Given the description of an element on the screen output the (x, y) to click on. 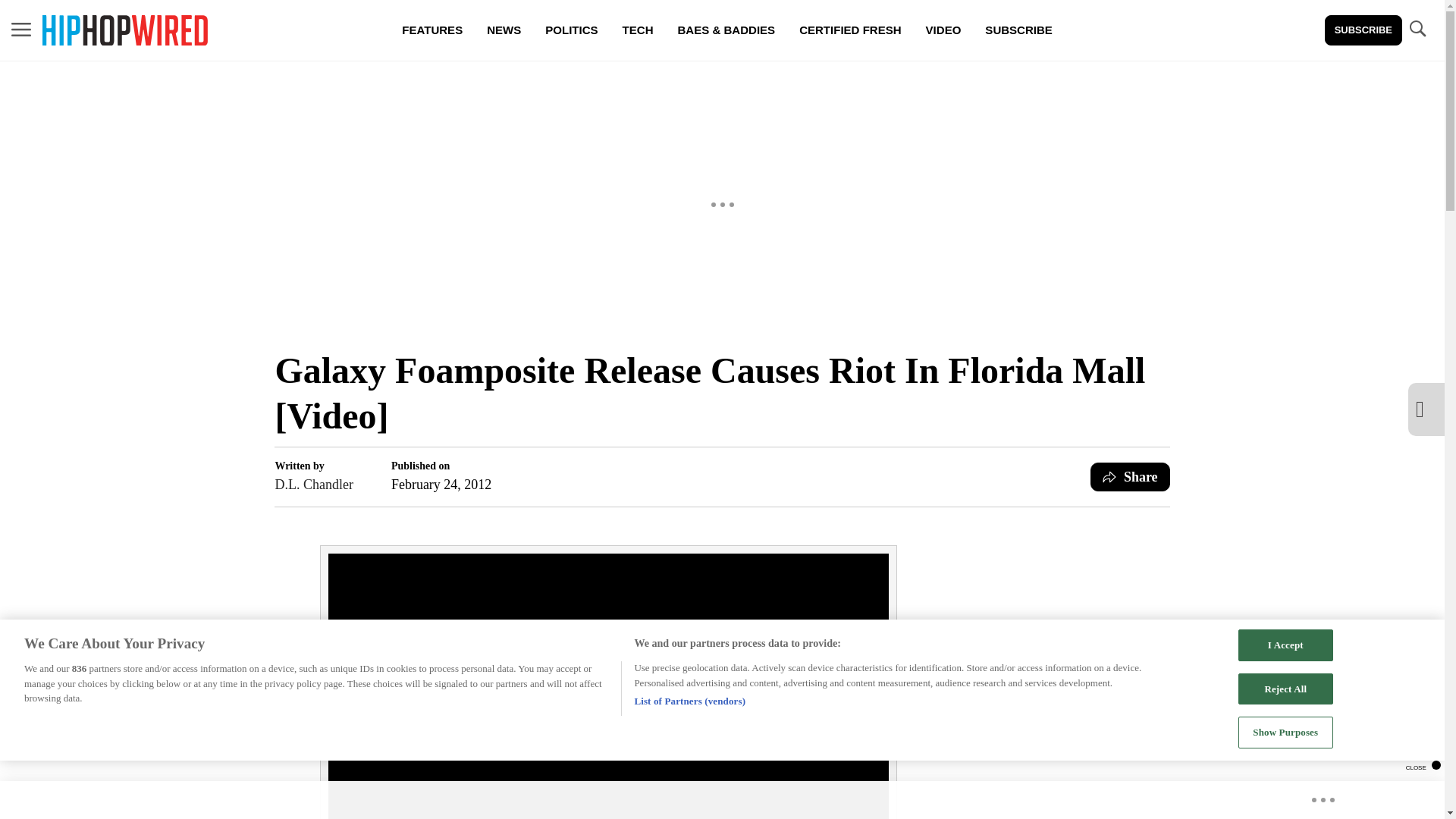
FEATURES (432, 30)
MENU (20, 30)
TECH (637, 30)
CERTIFIED FRESH (849, 30)
Share (1130, 476)
D.L. Chandler (313, 484)
TOGGLE SEARCH (1417, 30)
TOGGLE SEARCH (1417, 28)
VIDEO (944, 30)
MENU (20, 29)
POLITICS (571, 30)
SUBSCRIBE (1363, 30)
NEWS (503, 30)
SUBSCRIBE (1018, 30)
